Given the description of an element on the screen output the (x, y) to click on. 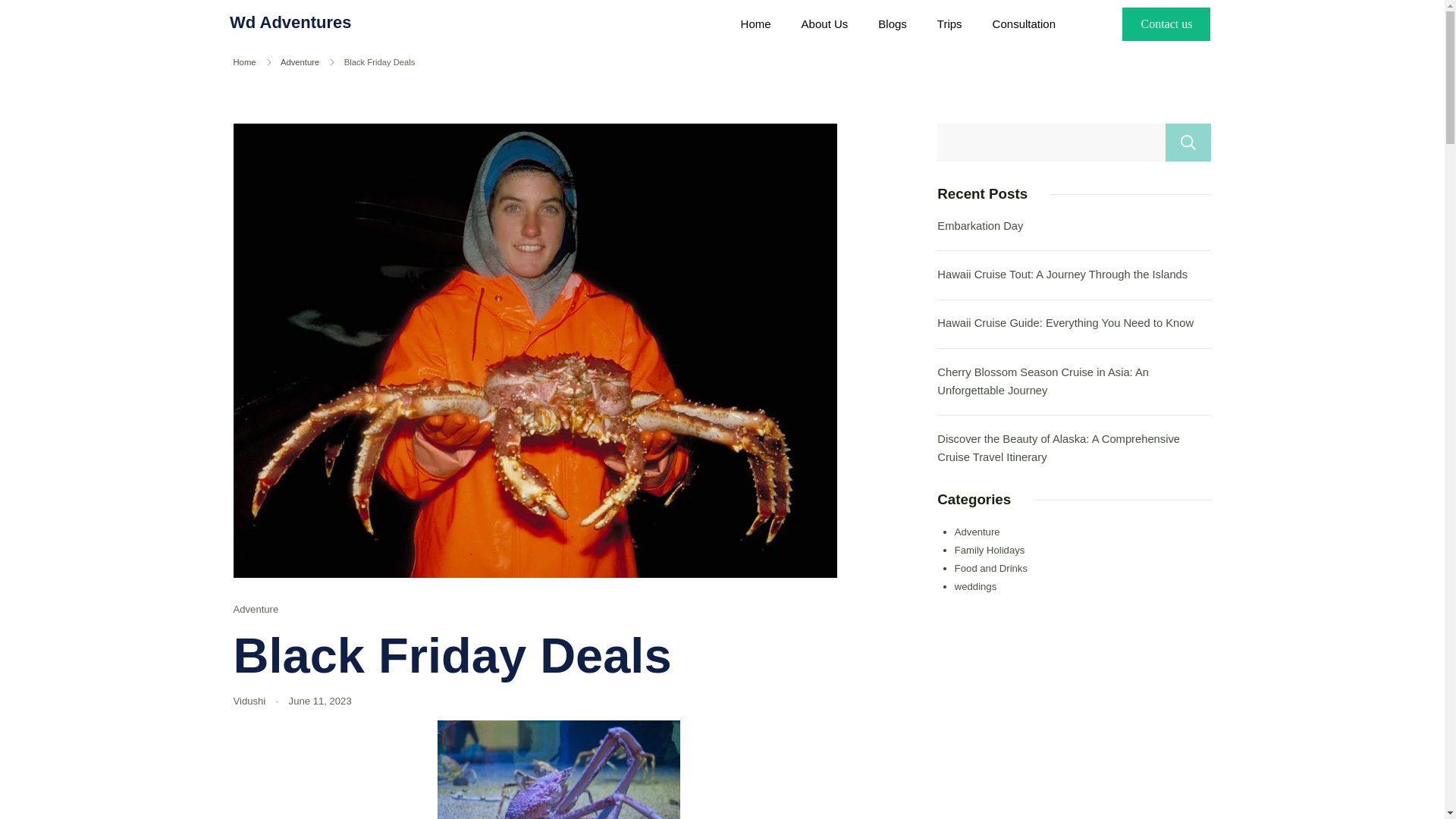
Home (244, 61)
Wd Adventures (291, 22)
Trips (948, 23)
Adventure (255, 609)
Consultation (1023, 23)
Contact us (1165, 23)
Blogs (892, 23)
Home (755, 23)
Adventure (299, 61)
Vidushi (249, 700)
